Given the description of an element on the screen output the (x, y) to click on. 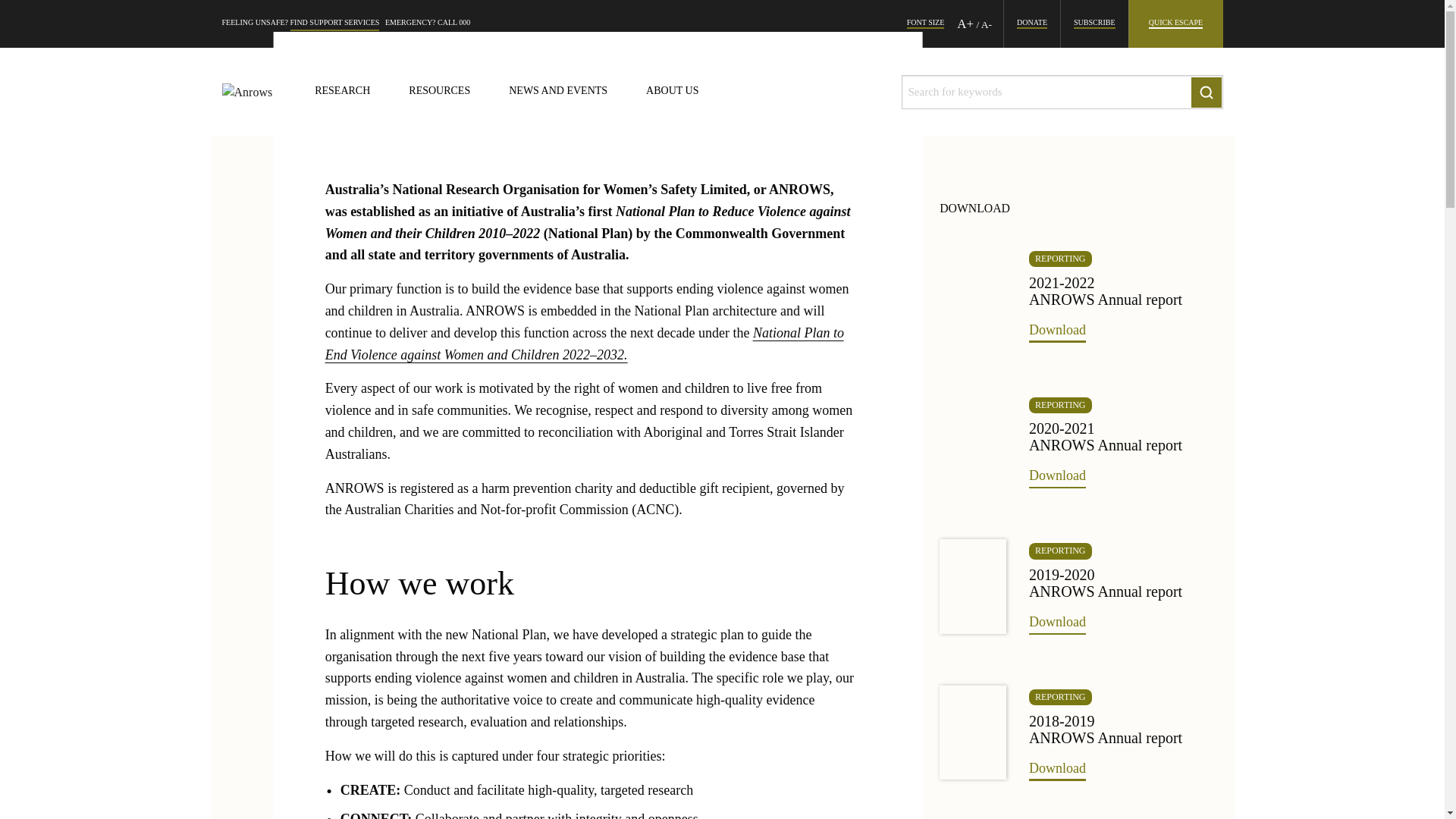
Download Element type: text (1057, 476)
NEWS AND EVENTS Element type: text (557, 91)
DONATE Element type: text (1032, 23)
A+ / A- Element type: text (980, 23)
ABOUT US Element type: text (672, 91)
Download Element type: text (1057, 622)
A+ Element type: text (965, 23)
Download Element type: text (1057, 331)
FONT SIZE Element type: text (925, 23)
RESOURCES Element type: text (439, 91)
SUBSCRIBE Element type: text (1093, 23)
A- Element type: text (986, 24)
RESEARCH Element type: text (342, 91)
QUICK ESCAPE Element type: text (1175, 23)
Download Element type: text (1057, 769)
FIND SUPPORT SERVICES Element type: text (334, 23)
